Given the description of an element on the screen output the (x, y) to click on. 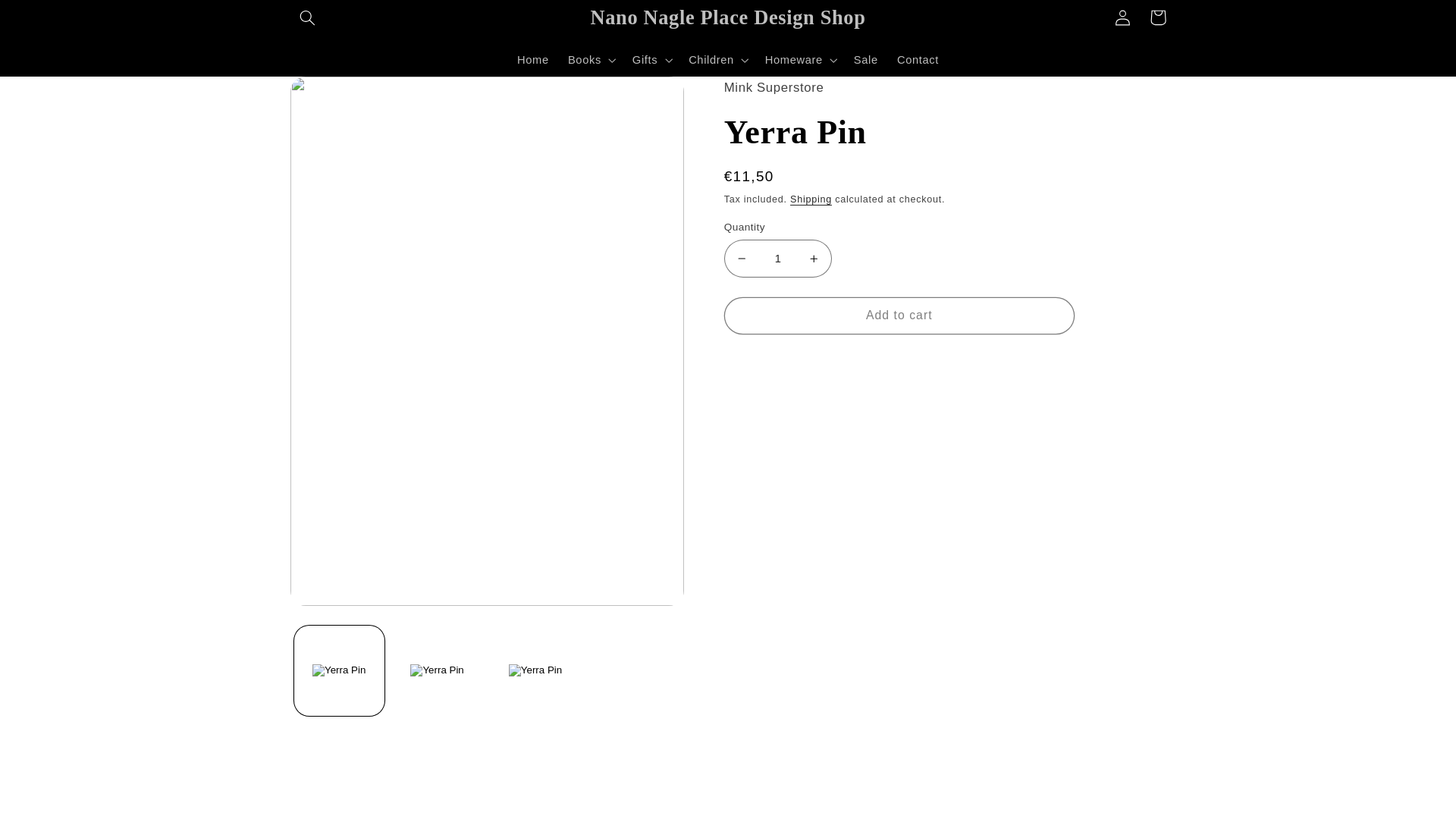
Nano Nagle Place Design Shop (728, 17)
1 (777, 257)
Skip to content (48, 18)
Home (531, 59)
